Given the description of an element on the screen output the (x, y) to click on. 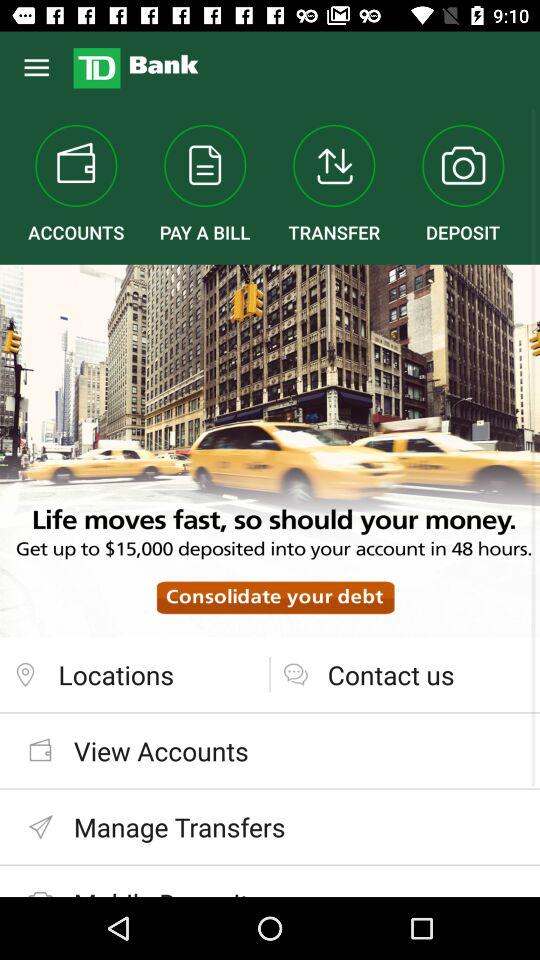
launch the icon below manage transfers (270, 880)
